Given the description of an element on the screen output the (x, y) to click on. 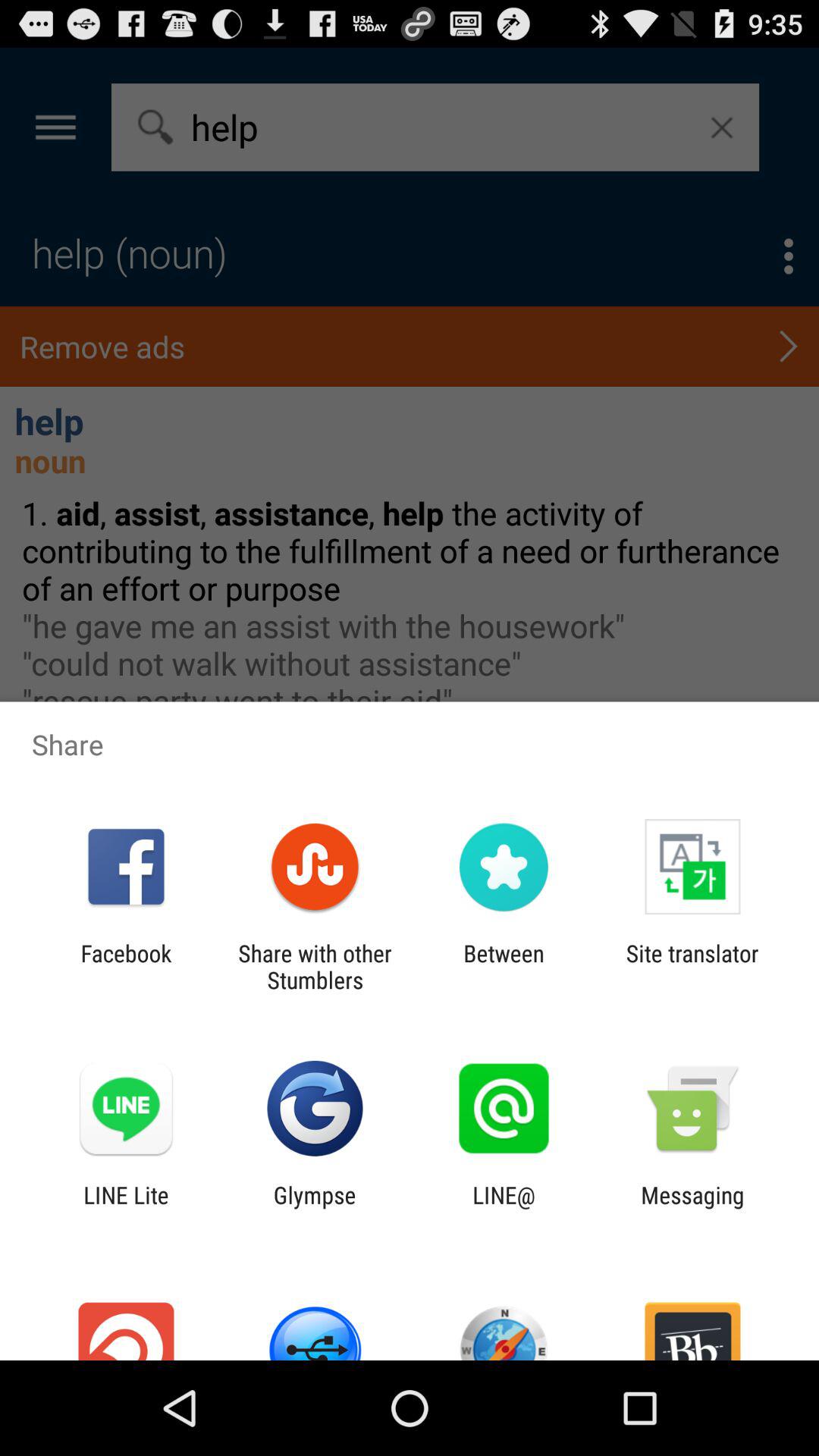
click app next to the between app (692, 966)
